Given the description of an element on the screen output the (x, y) to click on. 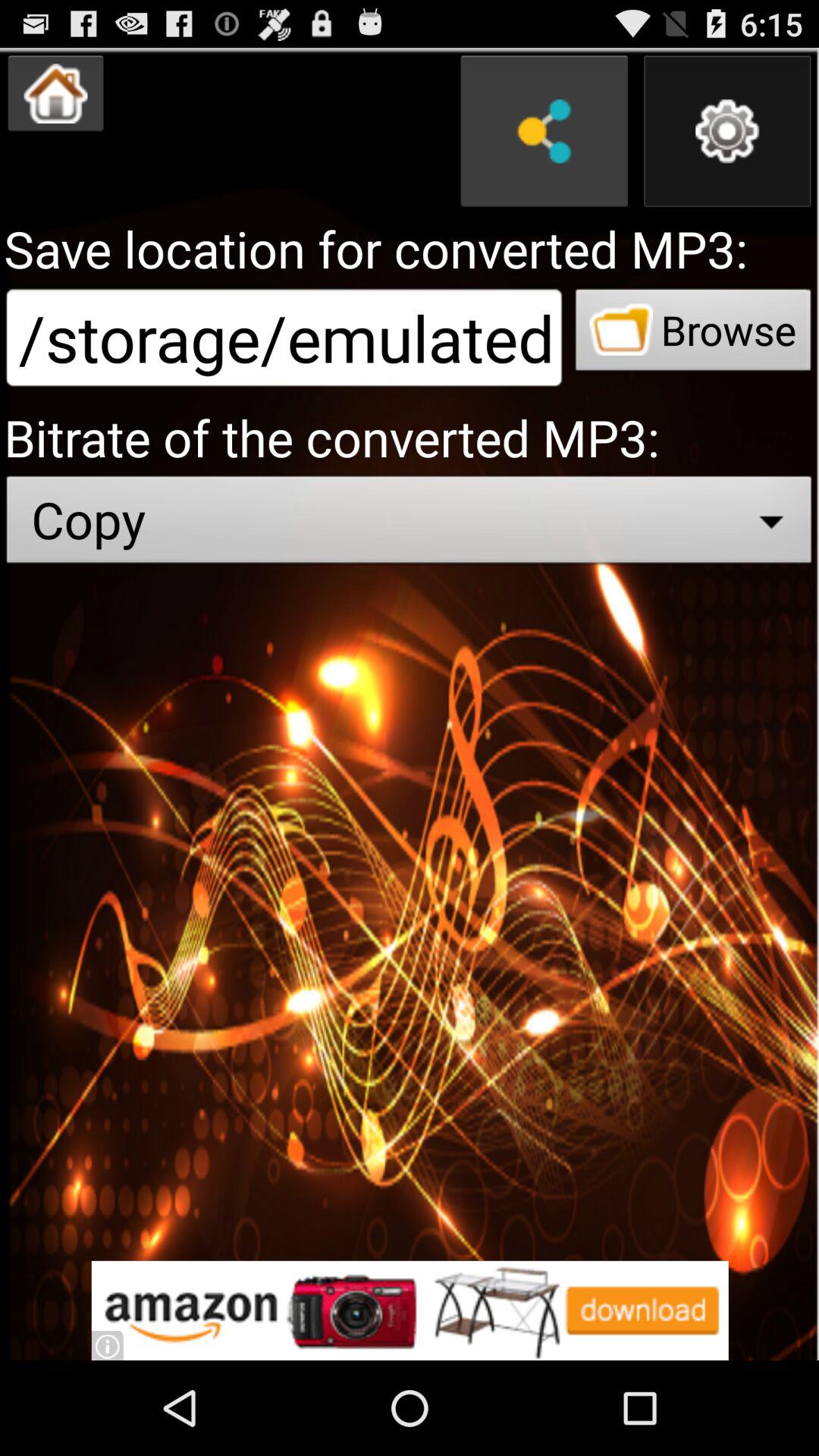
advertisement (409, 1310)
